Given the description of an element on the screen output the (x, y) to click on. 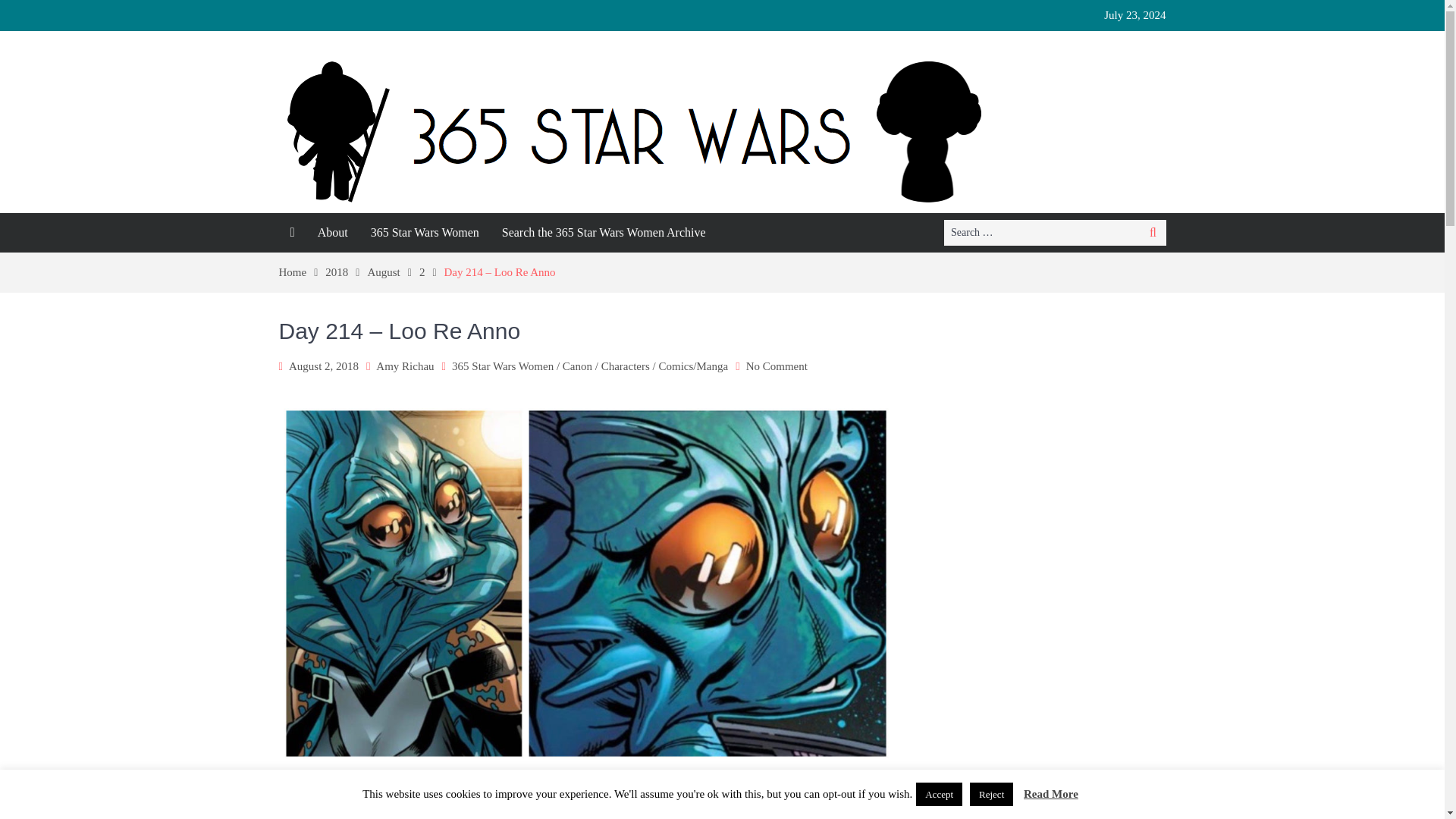
2018 (345, 272)
Home (302, 272)
August 2, 2018 (323, 366)
365 Star Wars Women (424, 232)
2 (431, 272)
About (332, 232)
Characters (625, 366)
Search the 365 Star Wars Women Archive (603, 232)
365 Star Wars Women (502, 366)
Canon (577, 366)
August (392, 272)
Search (1153, 232)
Amy Richau (404, 366)
